Given the description of an element on the screen output the (x, y) to click on. 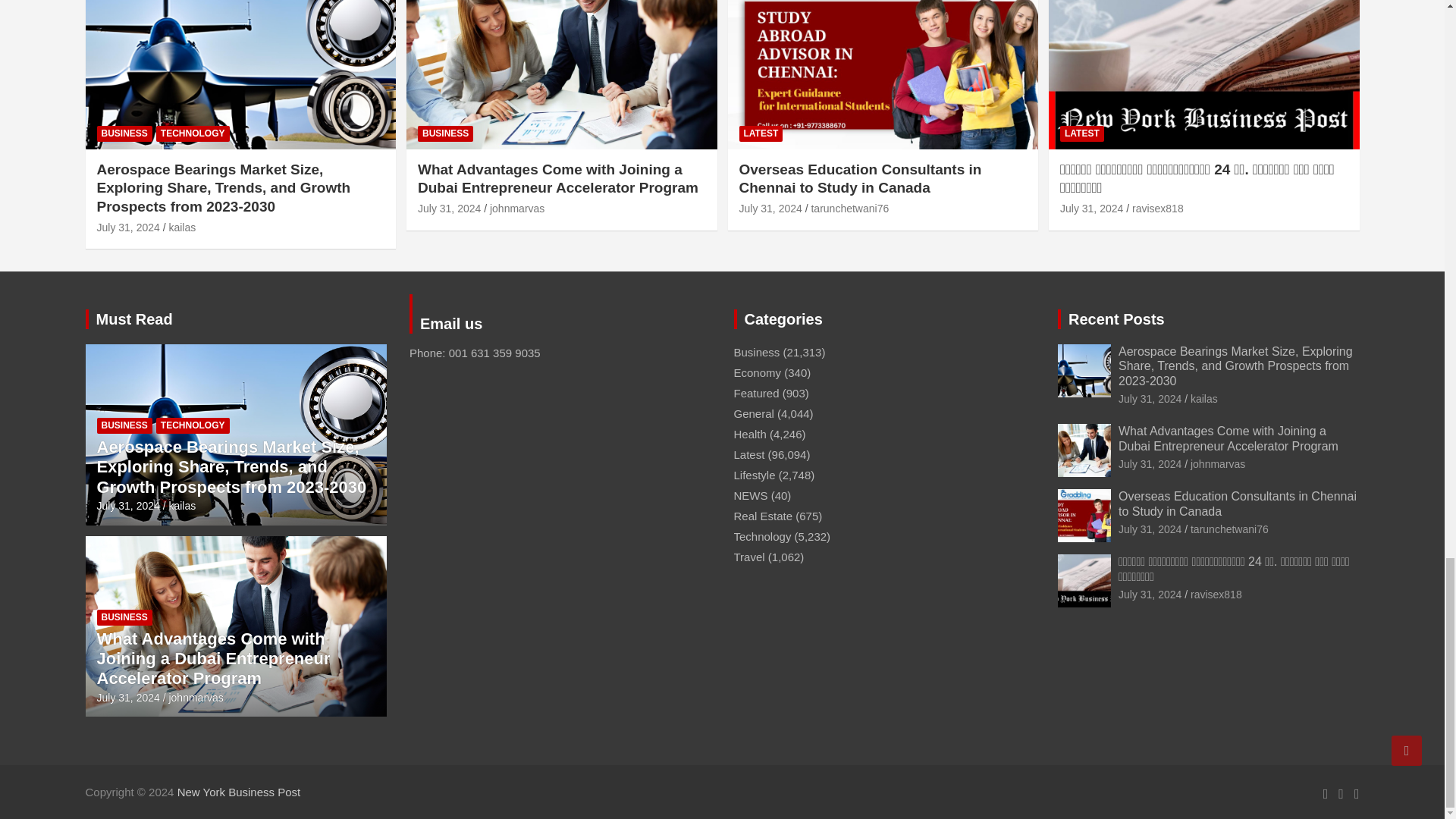
Overseas Education Consultants in Chennai to Study in Canada (770, 208)
